Given the description of an element on the screen output the (x, y) to click on. 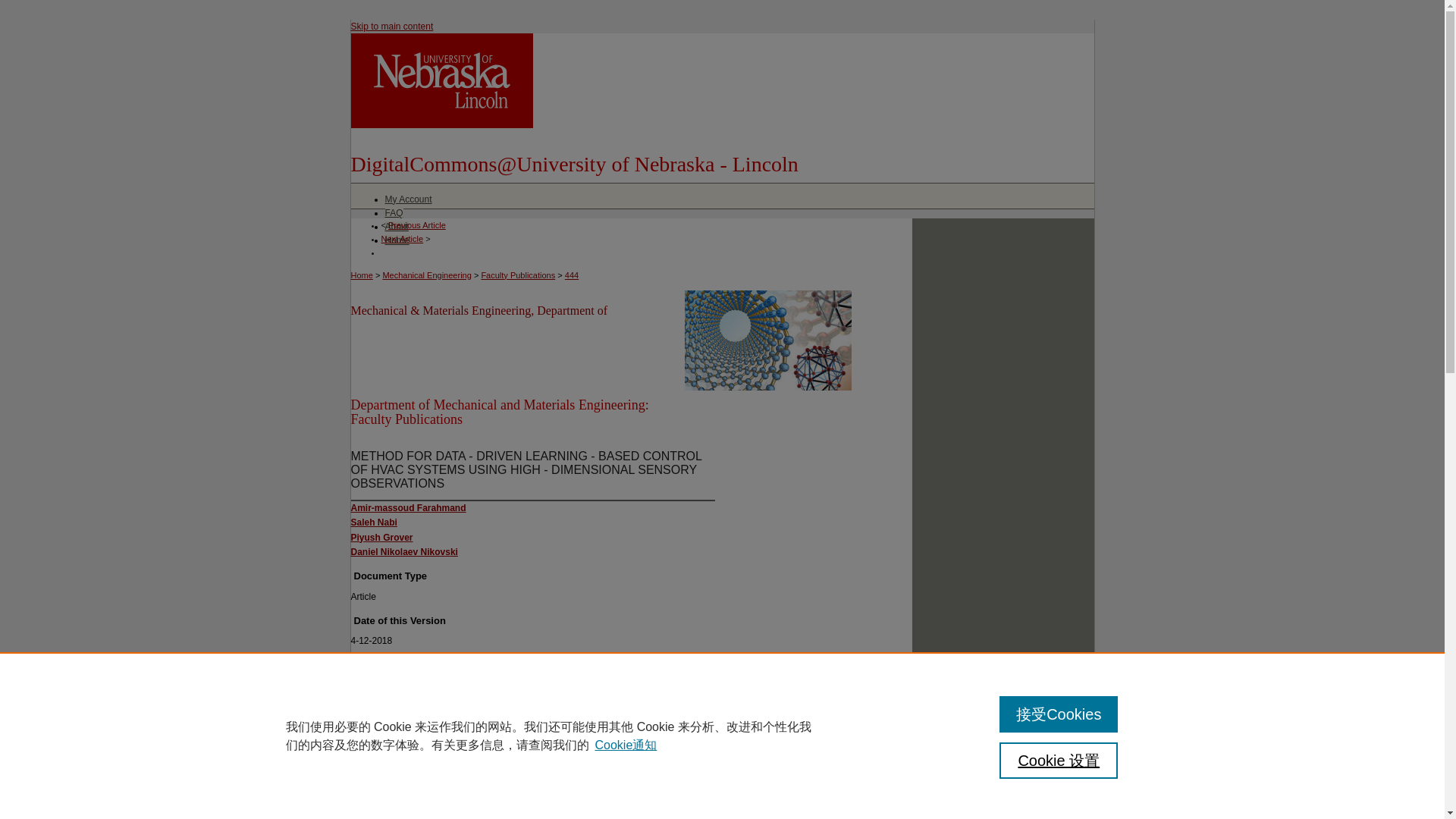
Amir-massoud Farahmand (407, 507)
Mechanical Engineering (425, 275)
Home (397, 240)
Home (361, 275)
About (397, 226)
Skip to main content (391, 26)
About (397, 226)
Next Article (401, 238)
Daniel Nikolaev Nikovski (403, 552)
Saleh Nabi (373, 521)
My Account (408, 199)
Previous Article (416, 225)
FAQ (394, 213)
